Given the description of an element on the screen output the (x, y) to click on. 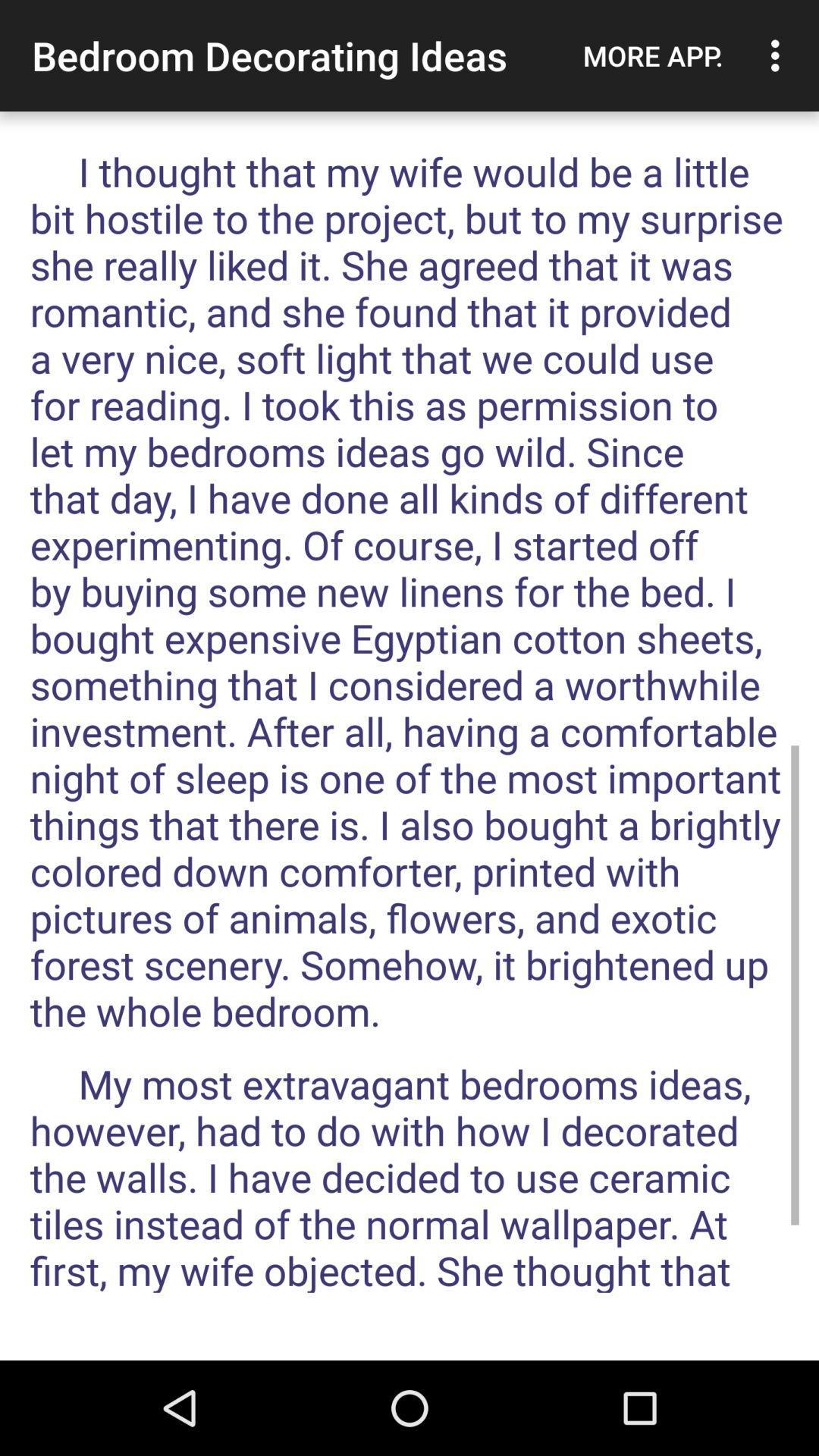
tap the item above the i thought that icon (653, 55)
